Given the description of an element on the screen output the (x, y) to click on. 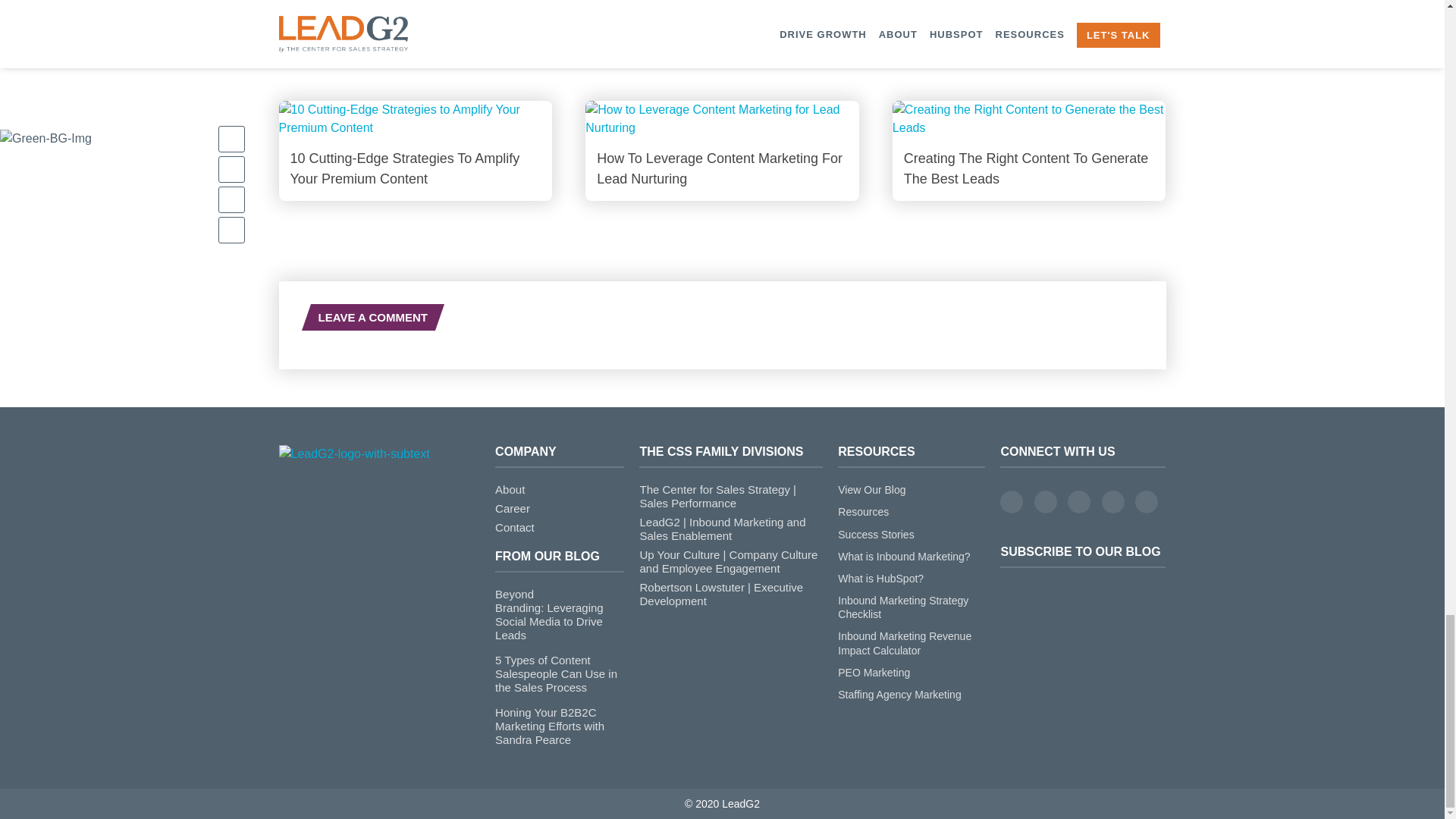
instagram (1113, 501)
linkedin (1078, 501)
Twitter (1045, 501)
10 Cutting-Edge Strategies To Amplify Your Premium Content (416, 150)
Facebook (1011, 501)
How To Leverage Content Marketing For Lead Nurturing (722, 150)
Creating The Right Content To Generate The Best Leads (1029, 150)
LeadG2-logo-with-subtext (354, 454)
rss (1146, 501)
